Given the description of an element on the screen output the (x, y) to click on. 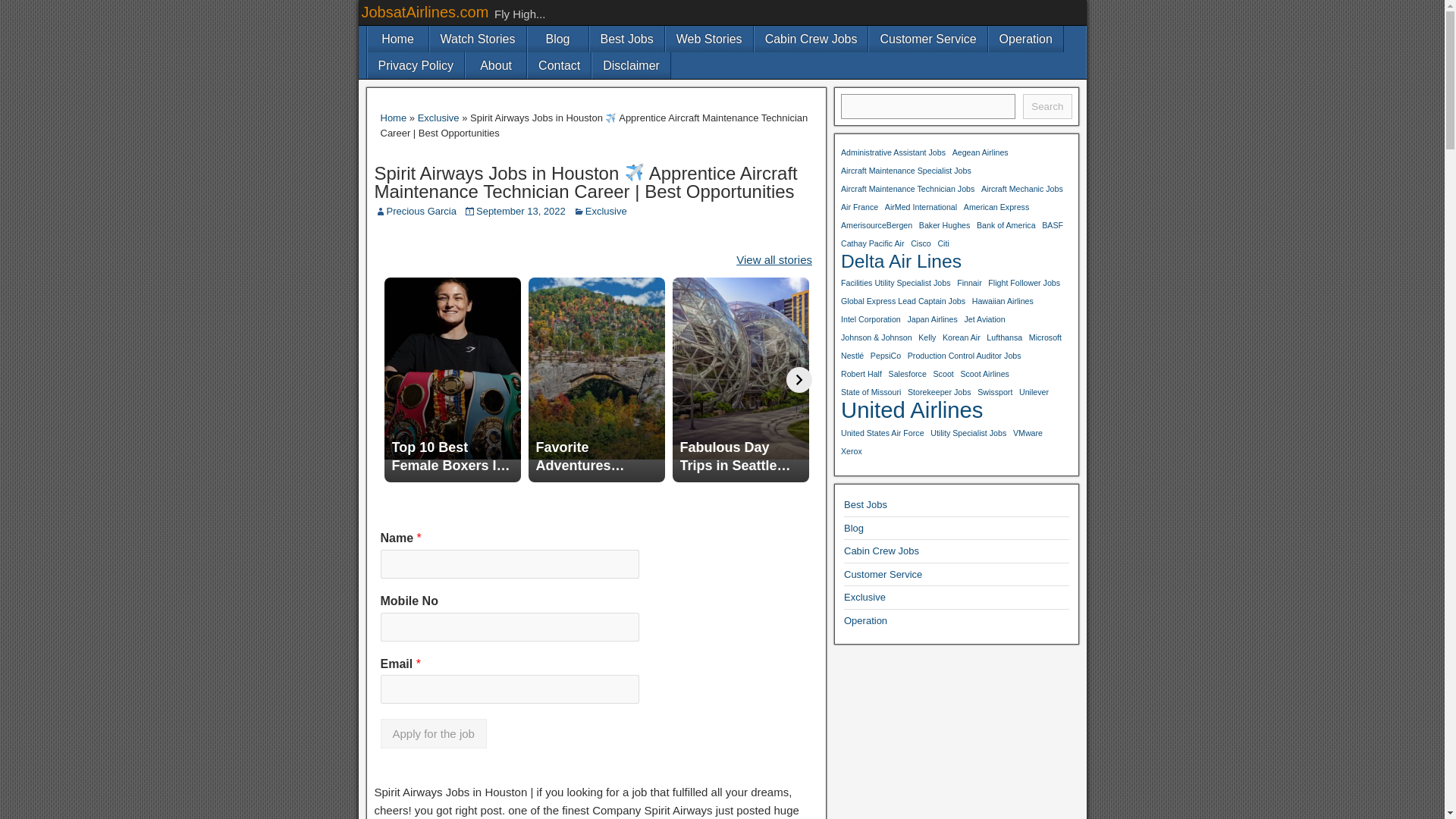
Home (393, 117)
Exclusive (438, 117)
Exclusive (606, 211)
Watch Stories (477, 38)
American Express (996, 207)
Privacy Policy (415, 65)
Air France (859, 207)
Precious Garcia (422, 211)
Search (1047, 106)
Home (397, 38)
